Given the description of an element on the screen output the (x, y) to click on. 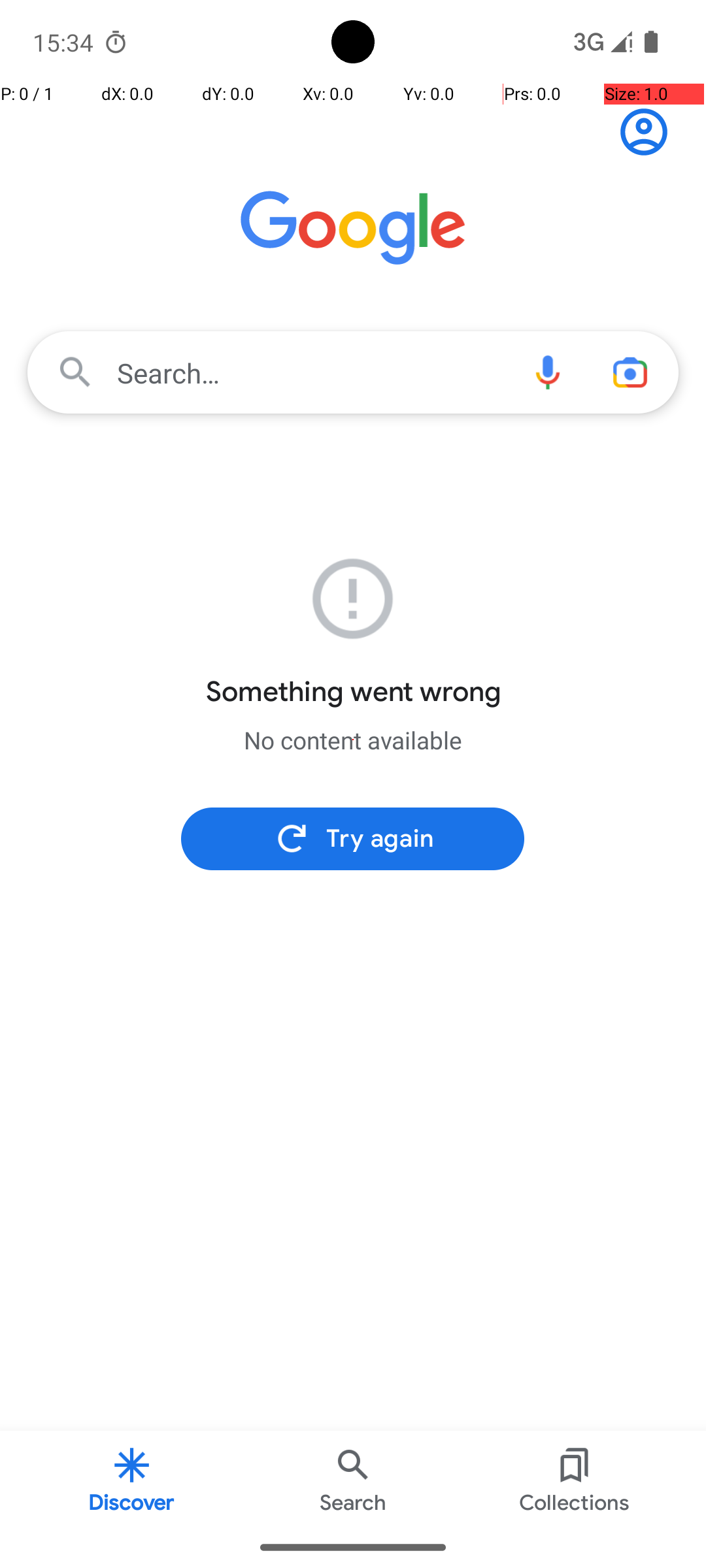
Something went wrong Element type: android.widget.TextView (352, 691)
No content available Element type: android.widget.TextView (352, 739)
Try again Element type: android.widget.Button (352, 838)
